Given the description of an element on the screen output the (x, y) to click on. 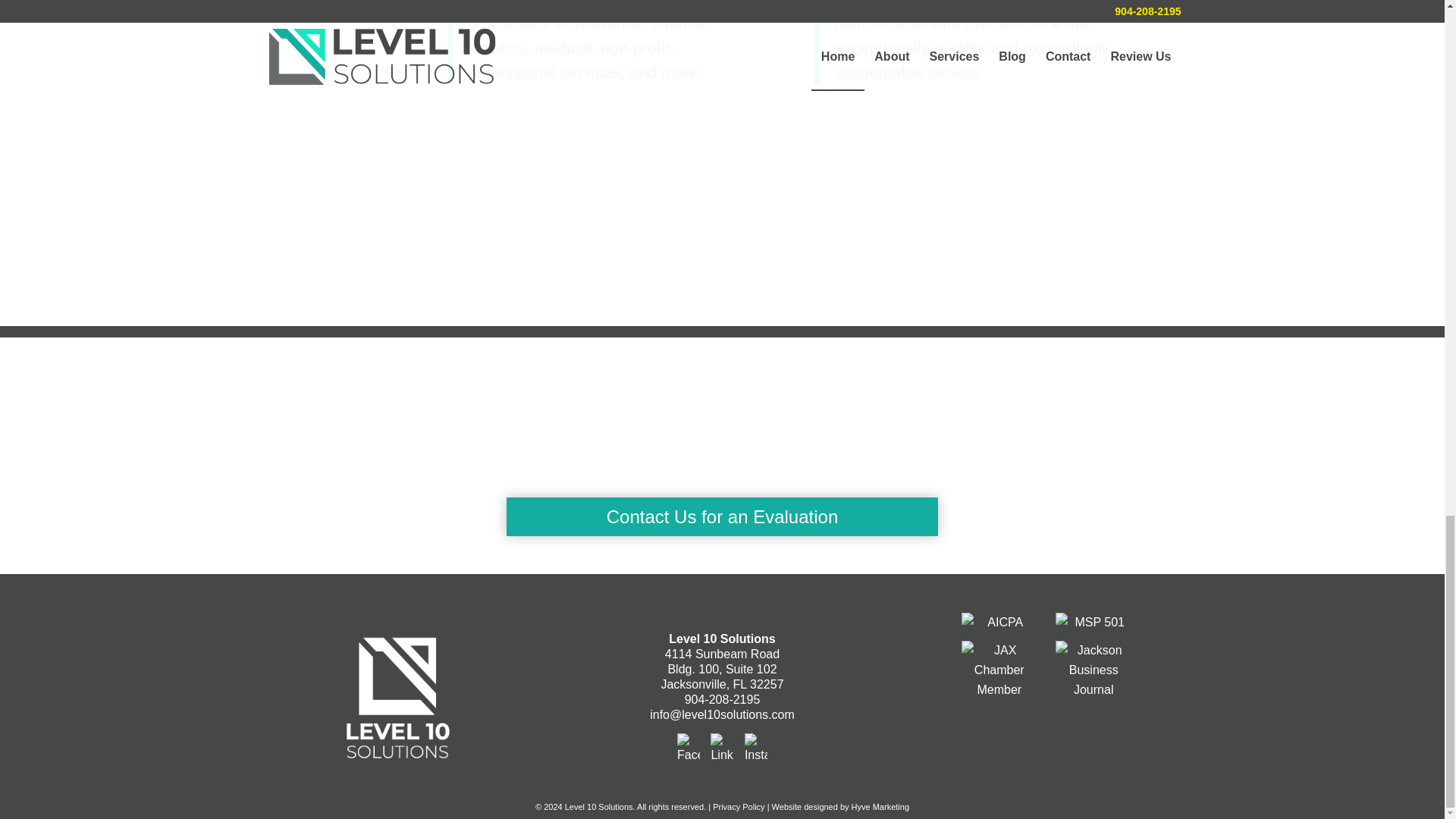
Contact Us for an Evaluation (721, 516)
904-208-2195 (722, 698)
